Given the description of an element on the screen output the (x, y) to click on. 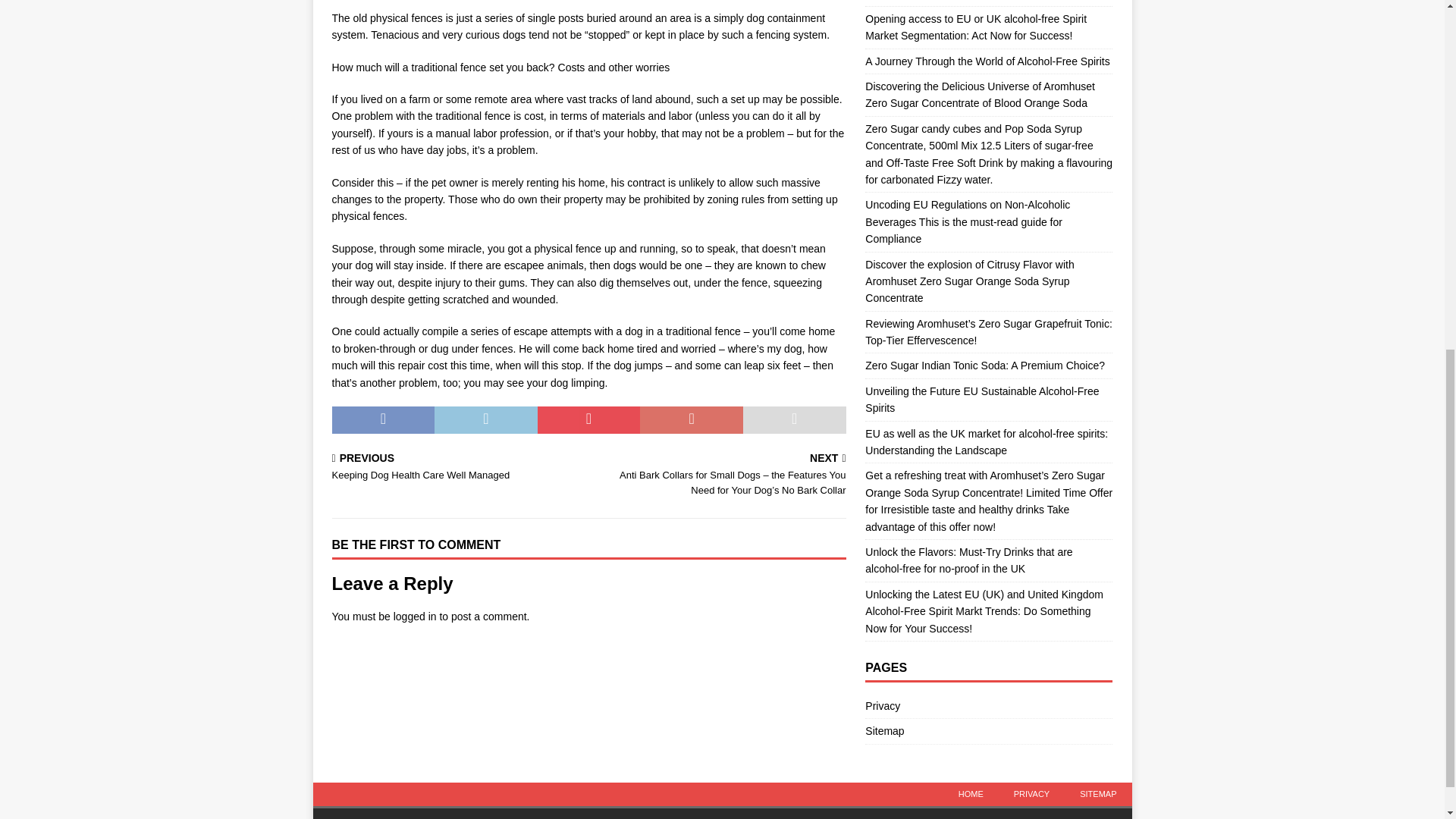
A Journey Through the World of Alcohol-Free Spirits (457, 468)
logged in (986, 61)
